Given the description of an element on the screen output the (x, y) to click on. 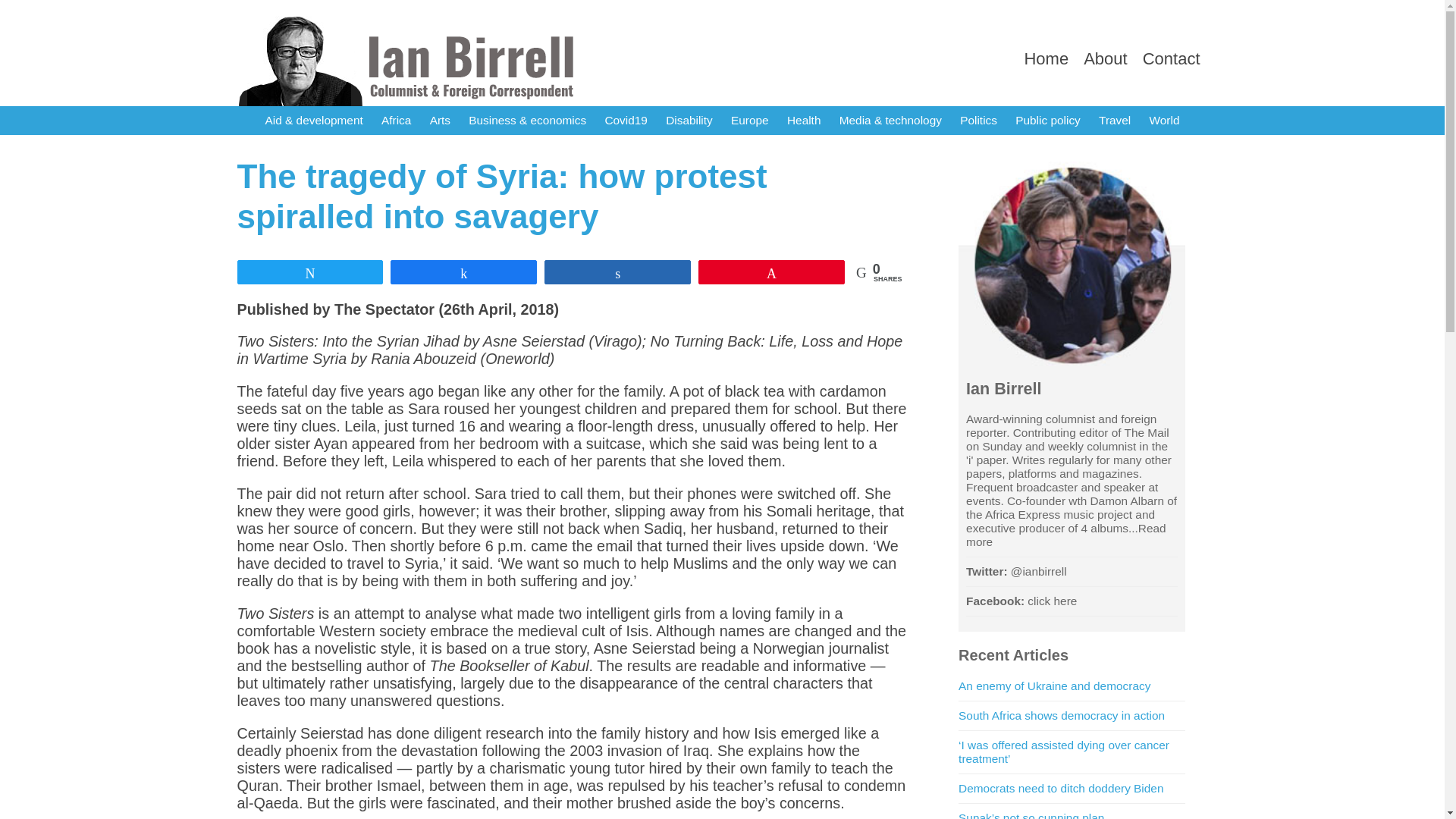
Arts (439, 120)
Disability (689, 120)
Covid19 (625, 120)
Africa (395, 120)
Contact (1170, 58)
Home (1045, 58)
About (1104, 58)
